Given the description of an element on the screen output the (x, y) to click on. 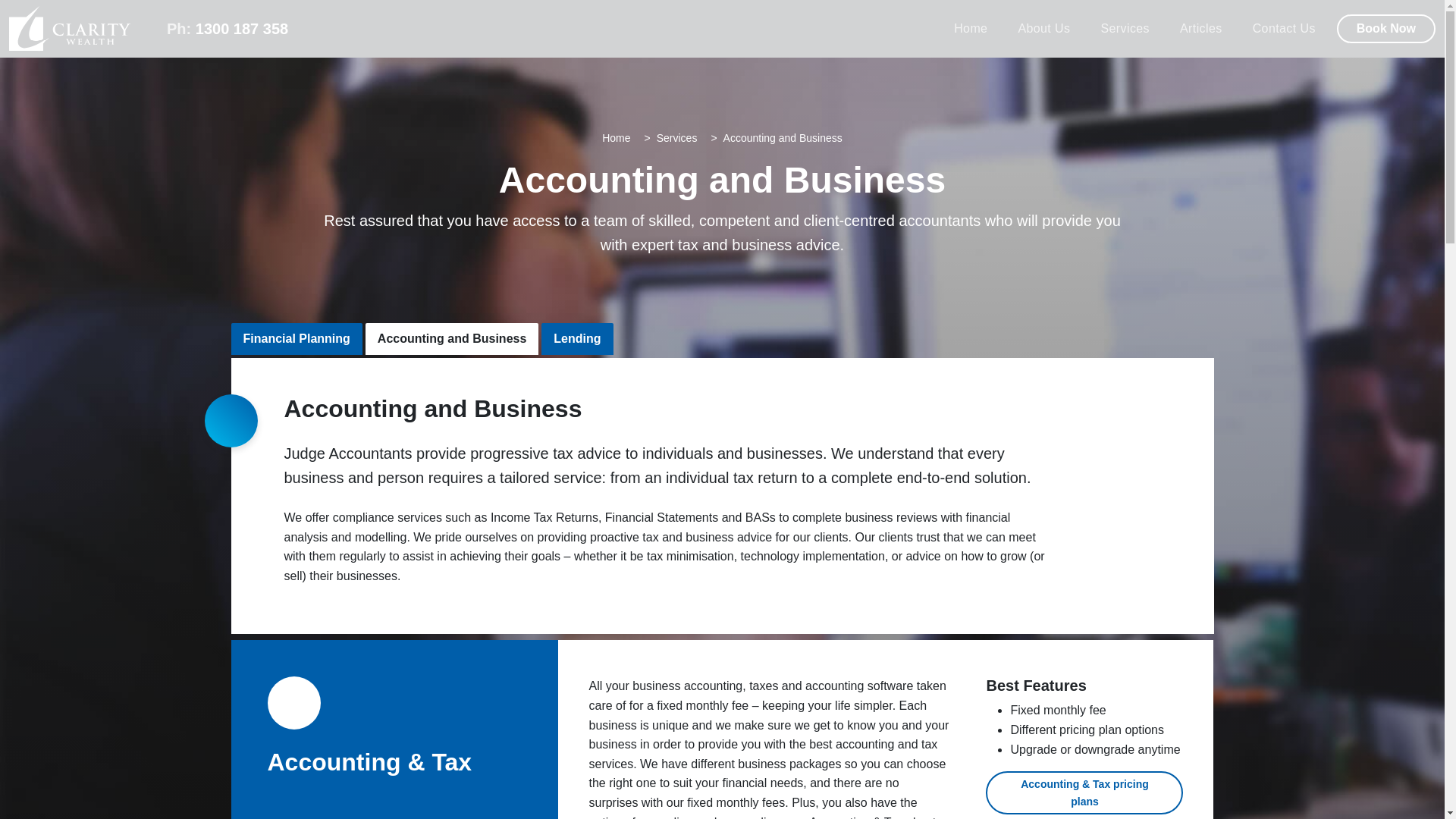
Contact Us (1284, 29)
Services (676, 137)
Services (1125, 29)
Contact Us (1284, 29)
Articles (1200, 29)
Home (616, 137)
Home (970, 29)
Accounting and Business (451, 338)
Financial Planning (295, 338)
Home (970, 29)
Lending (576, 338)
Articles (1200, 29)
About Us (1043, 29)
Book Now (1385, 28)
1300 187 358 (241, 28)
